Given the description of an element on the screen output the (x, y) to click on. 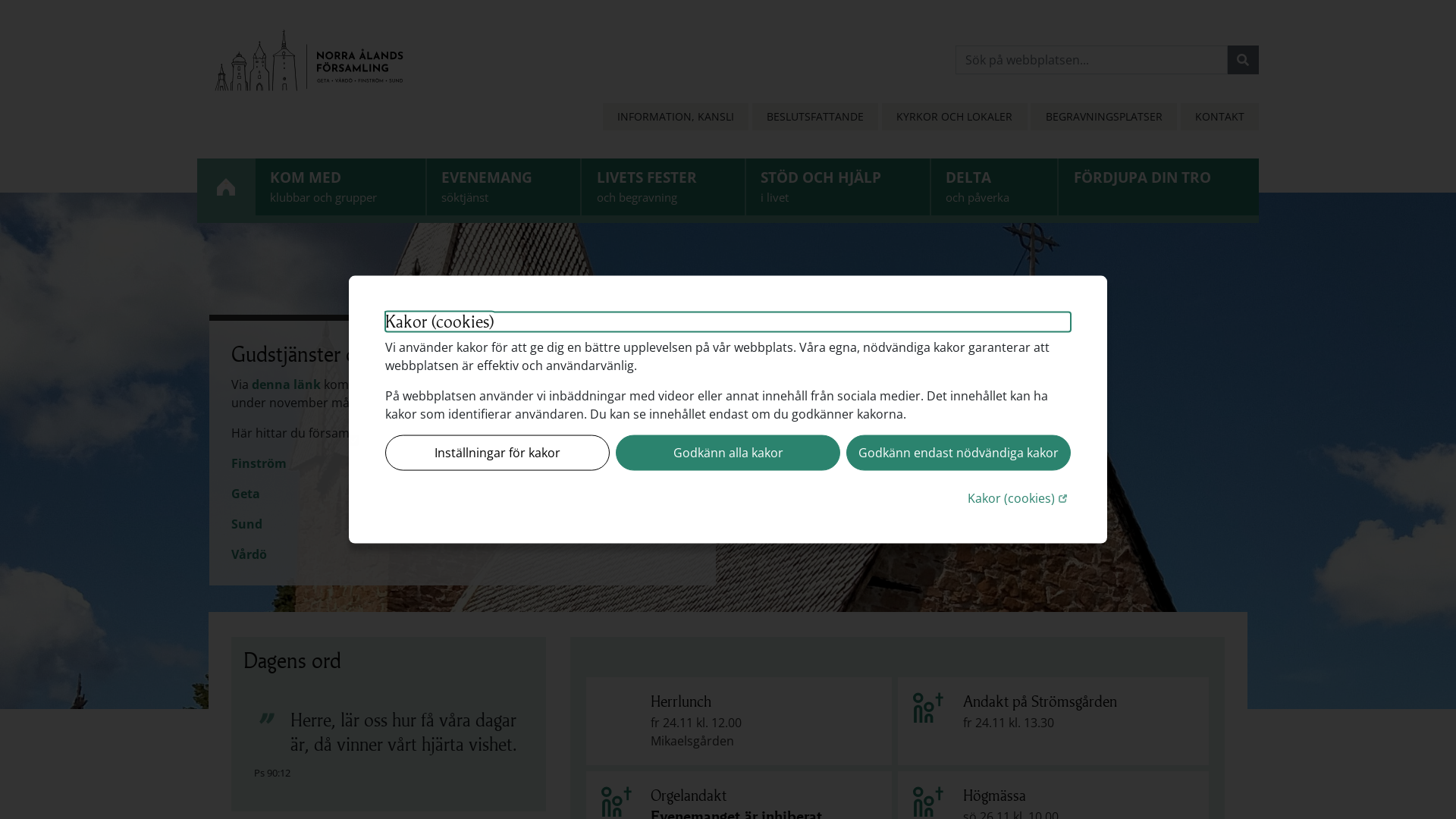
KONTAKT Element type: text (1219, 116)
INFORMATION, KANSLI Element type: text (675, 116)
KOM MED
klubbar och grupper Element type: text (340, 186)
KYRKOR OCH LOKALER Element type: text (953, 116)
Geta Element type: text (245, 493)
Sund Element type: text (246, 523)
LIVETS FESTER
och begravning Element type: text (662, 186)
BESLUTSFATTANDE Element type: text (815, 116)
BEGRAVNINGSPLATSER Element type: text (1103, 116)
